Given the description of an element on the screen output the (x, y) to click on. 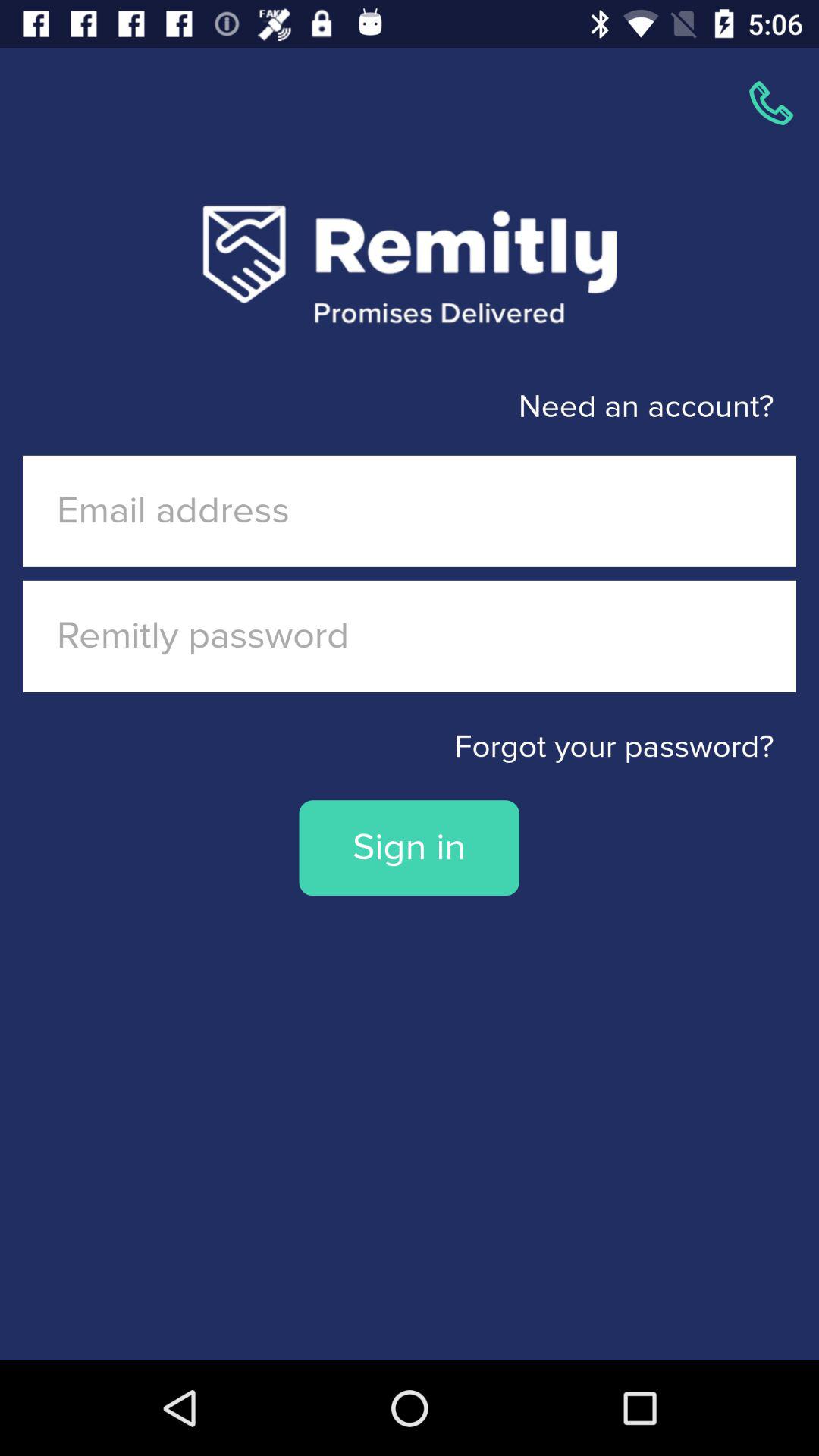
turn on need an account? icon (387, 406)
